Given the description of an element on the screen output the (x, y) to click on. 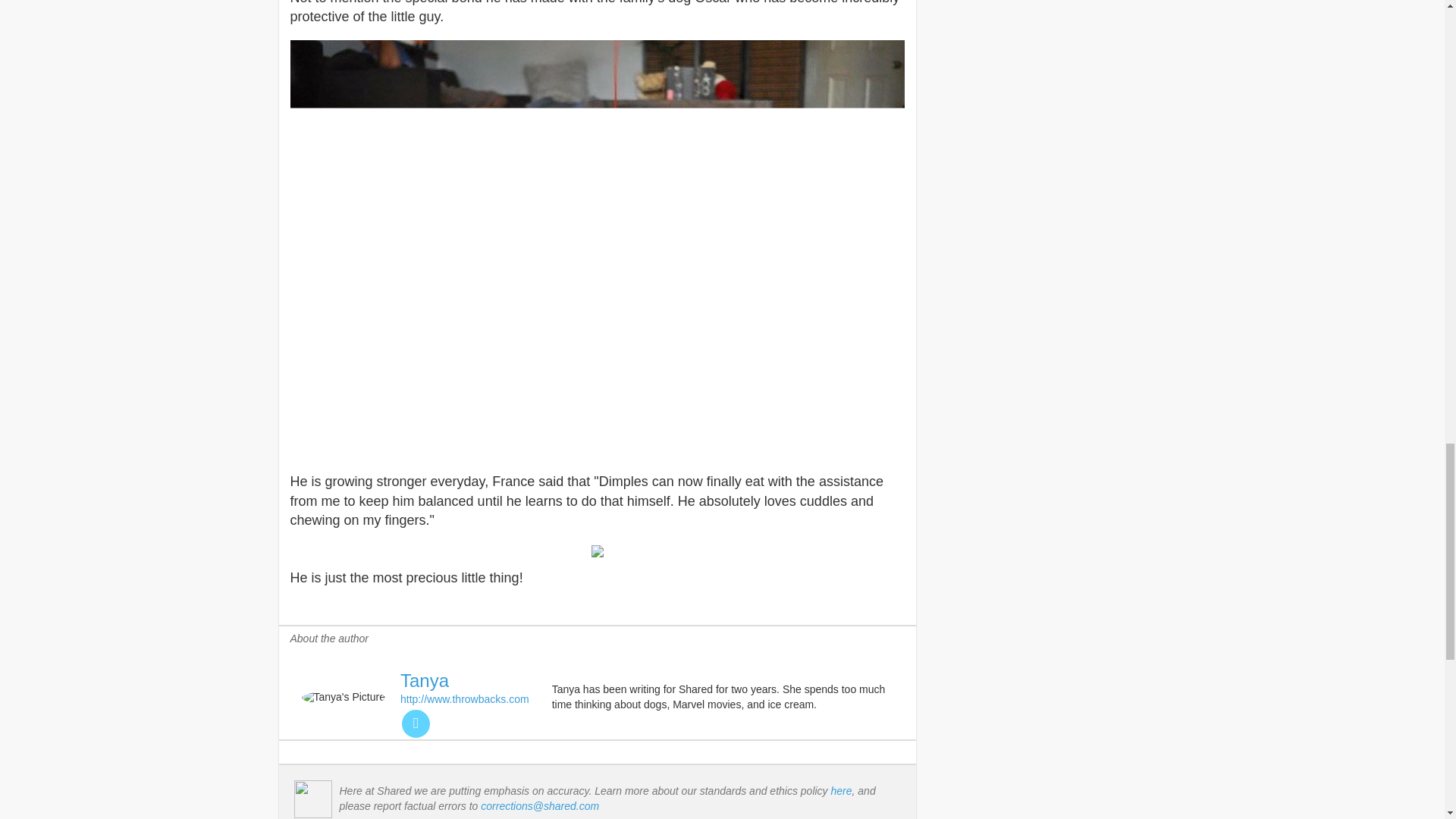
Tanya (424, 680)
twitter (415, 723)
here (841, 790)
